Given the description of an element on the screen output the (x, y) to click on. 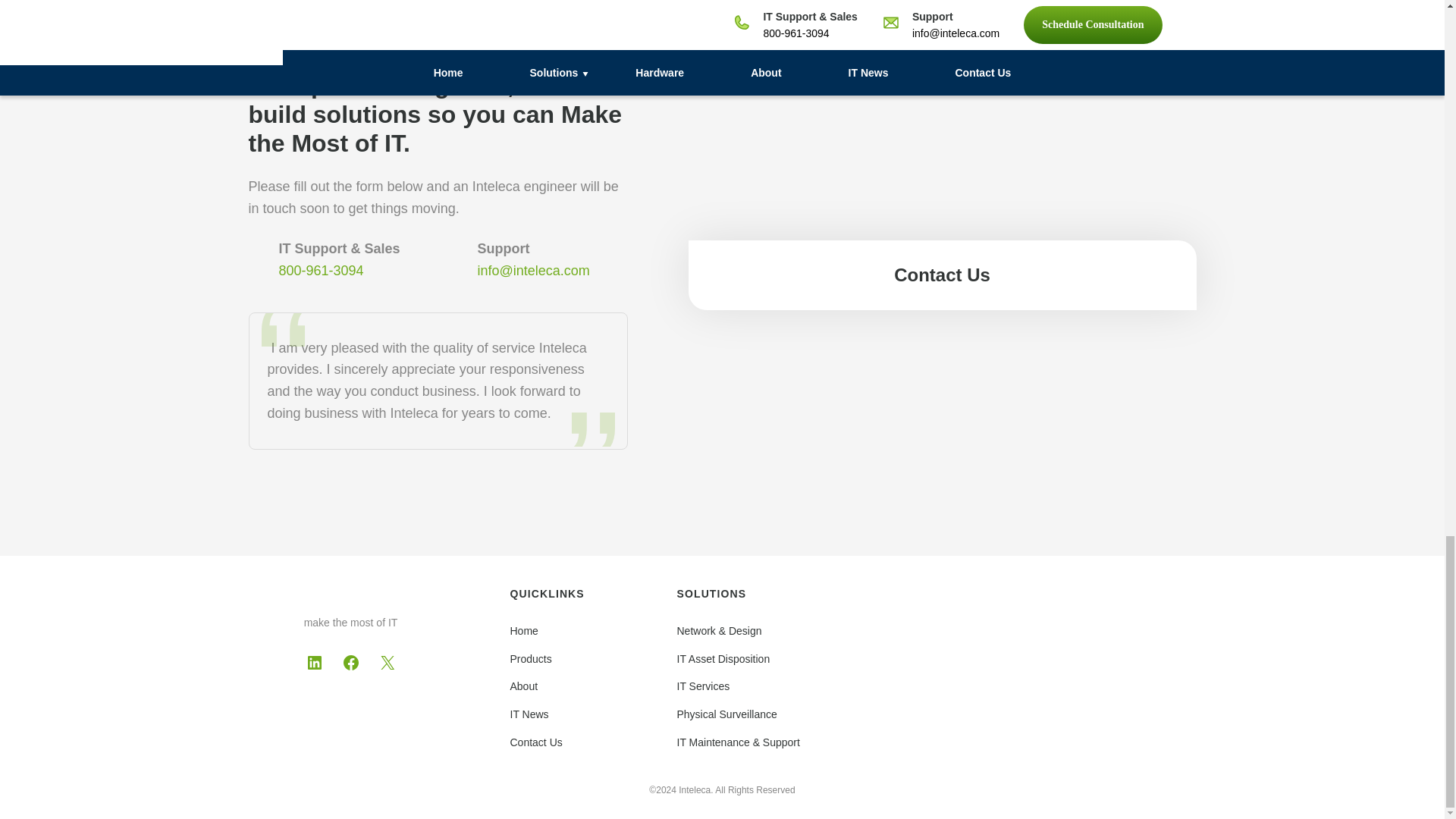
X (386, 662)
Contact Us (535, 742)
IT News (528, 714)
Home (523, 630)
Facebook (349, 662)
800-961-3094 (321, 270)
About (523, 686)
Products (530, 658)
LinkedIn (313, 662)
